Given the description of an element on the screen output the (x, y) to click on. 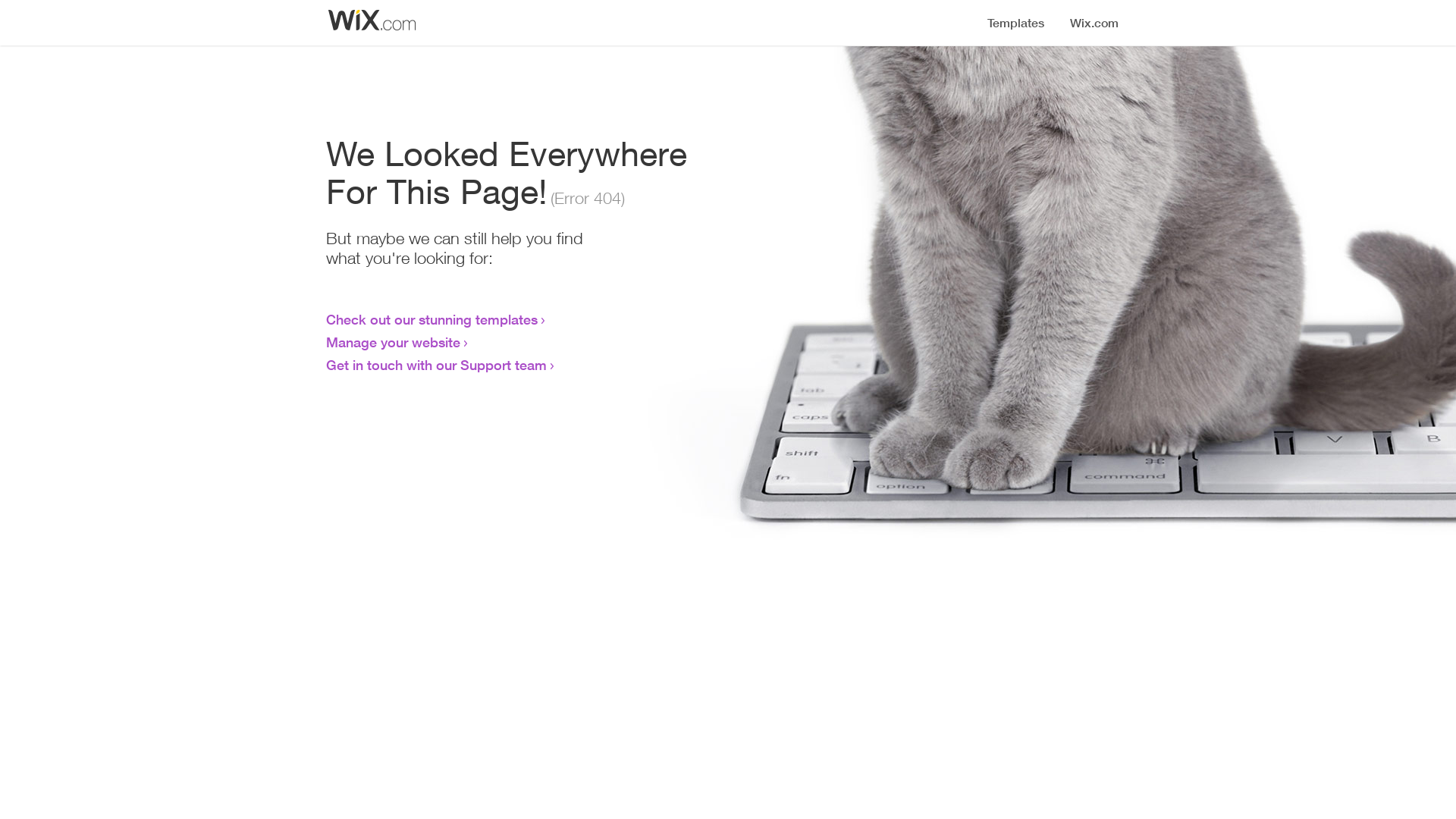
Check out our stunning templates Element type: text (431, 318)
Manage your website Element type: text (393, 341)
Get in touch with our Support team Element type: text (436, 364)
